Given the description of an element on the screen output the (x, y) to click on. 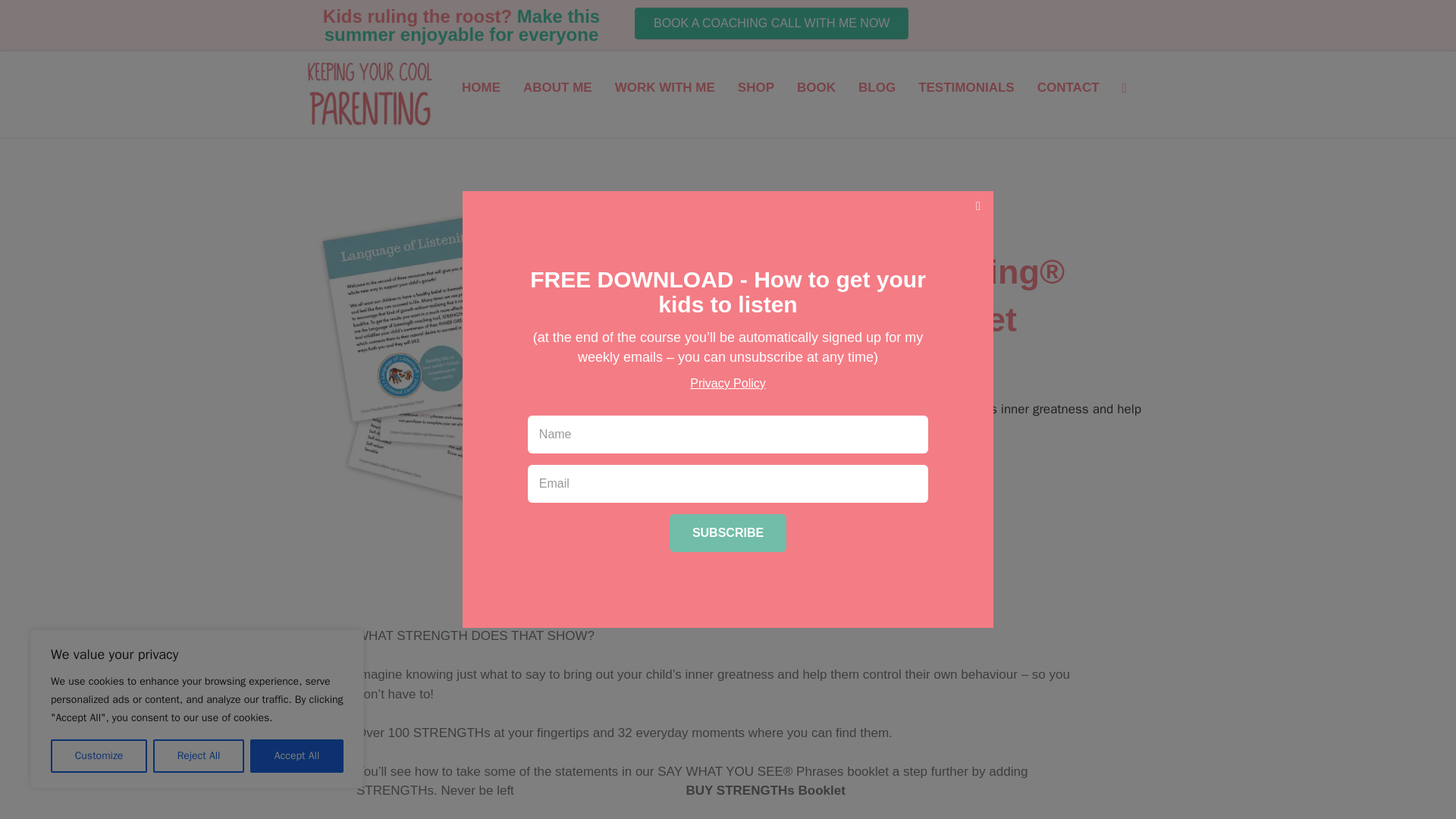
Add to basket (795, 489)
HOME (480, 87)
Customize (98, 756)
Reject All (198, 756)
Accept All (296, 756)
Strength booklet (486, 364)
1 (698, 489)
ABOUT ME (558, 87)
BLOG (877, 87)
BOOK A COACHING CALL WITH ME NOW (771, 23)
SHOP (756, 87)
TESTIMONIALS (966, 87)
CONTACT (1068, 87)
WORK WITH ME (665, 87)
BOOK (816, 87)
